Given the description of an element on the screen output the (x, y) to click on. 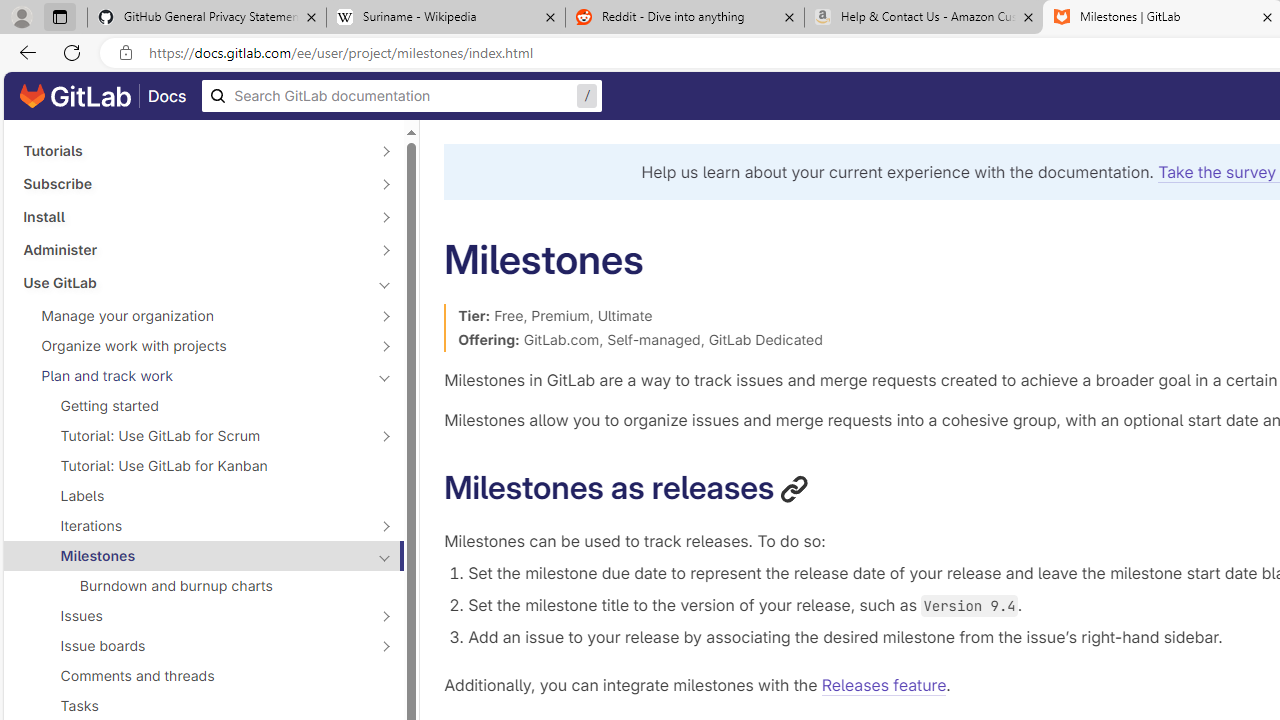
Help & Contact Us - Amazon Customer Service - Sleeping (924, 17)
Comments and threads (203, 675)
Use GitLab (192, 282)
Install (192, 216)
Suriname - Wikipedia (445, 17)
Milestones (192, 555)
Organize work with projects (192, 345)
GitLab documentation home (75, 96)
Issue boards (192, 645)
Tutorial: Use GitLab for Kanban (203, 465)
Tutorial: Use GitLab for Scrum (192, 435)
Iterations (192, 525)
